Given the description of an element on the screen output the (x, y) to click on. 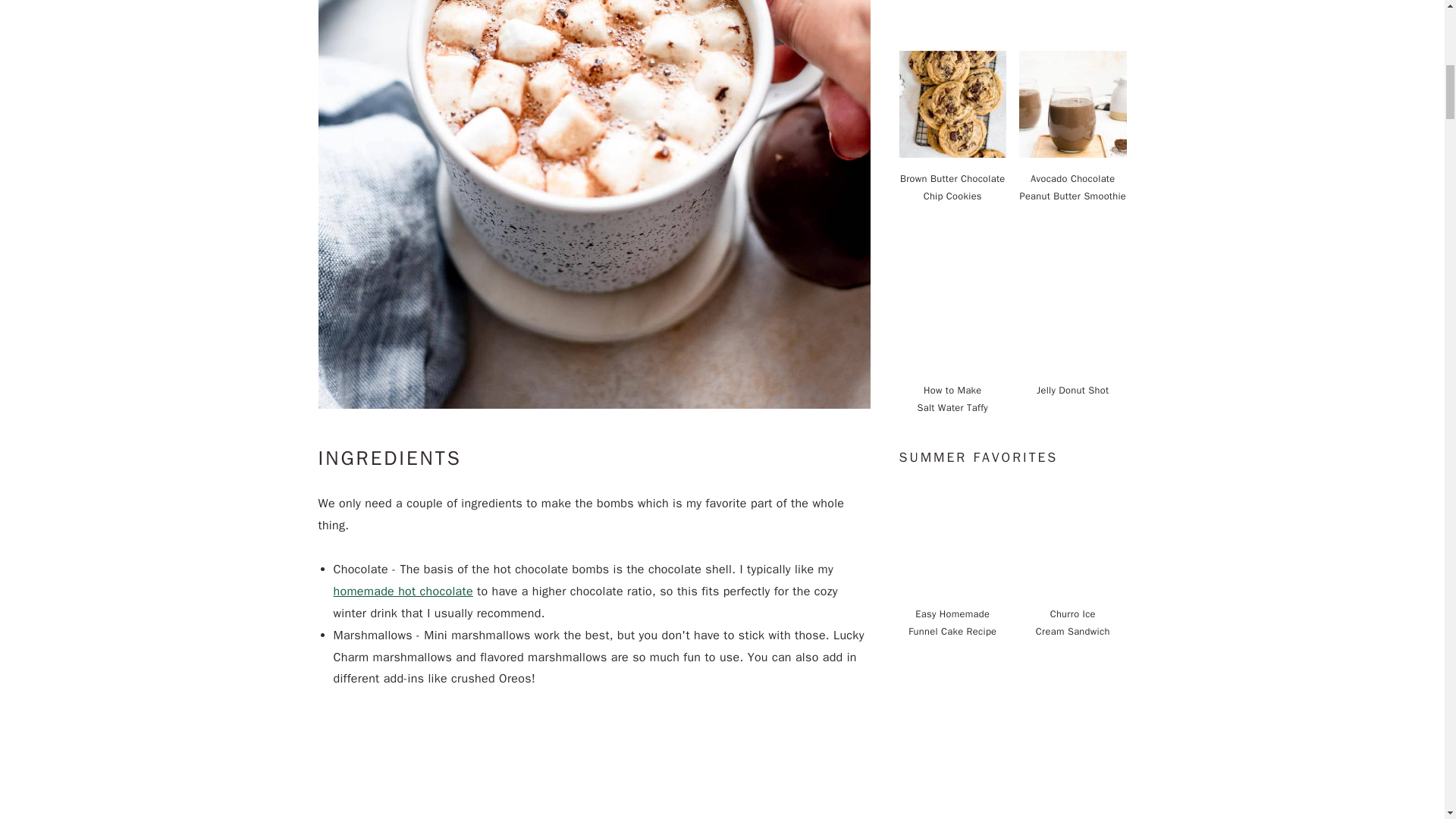
homemade hot chocolate (403, 590)
